Given the description of an element on the screen output the (x, y) to click on. 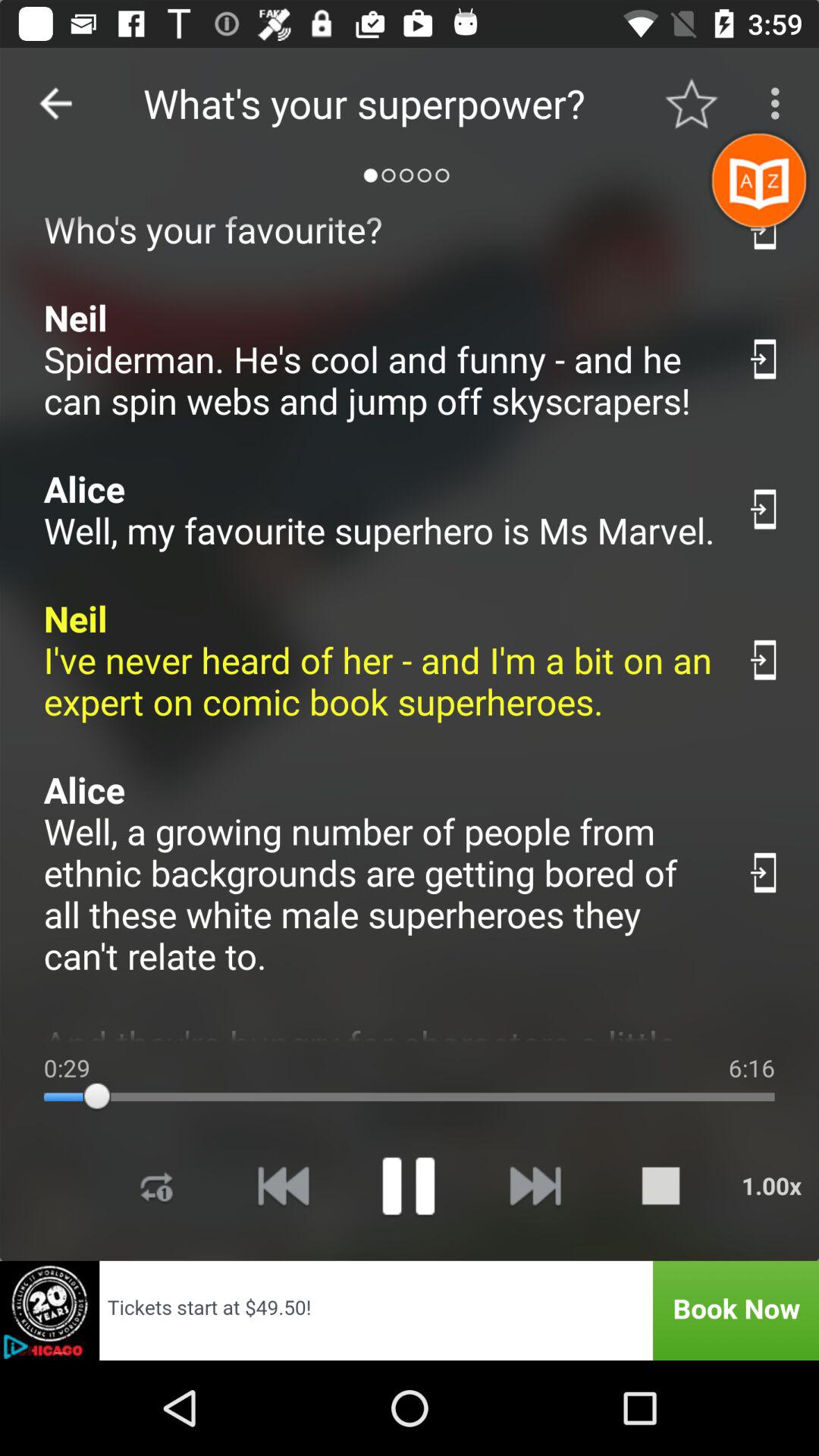
backward to beggining (282, 1185)
